Given the description of an element on the screen output the (x, y) to click on. 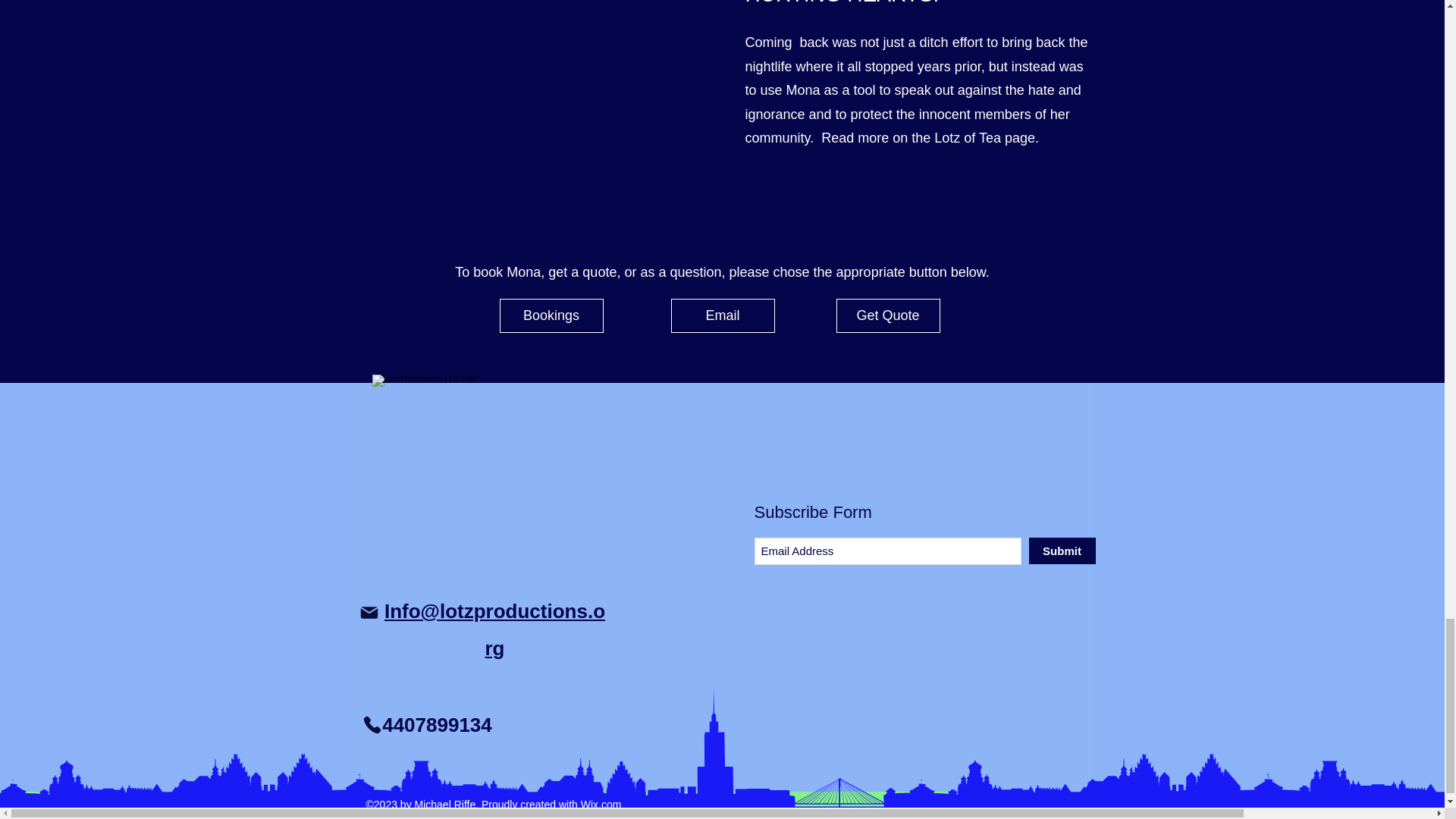
LOTZ OF TEA; "HELPING HURTING HEARTS: (868, 2)
Bookings (550, 315)
LOGO4.png (482, 485)
Get Quote (887, 315)
Submit (1060, 550)
Email (721, 315)
